Given the description of an element on the screen output the (x, y) to click on. 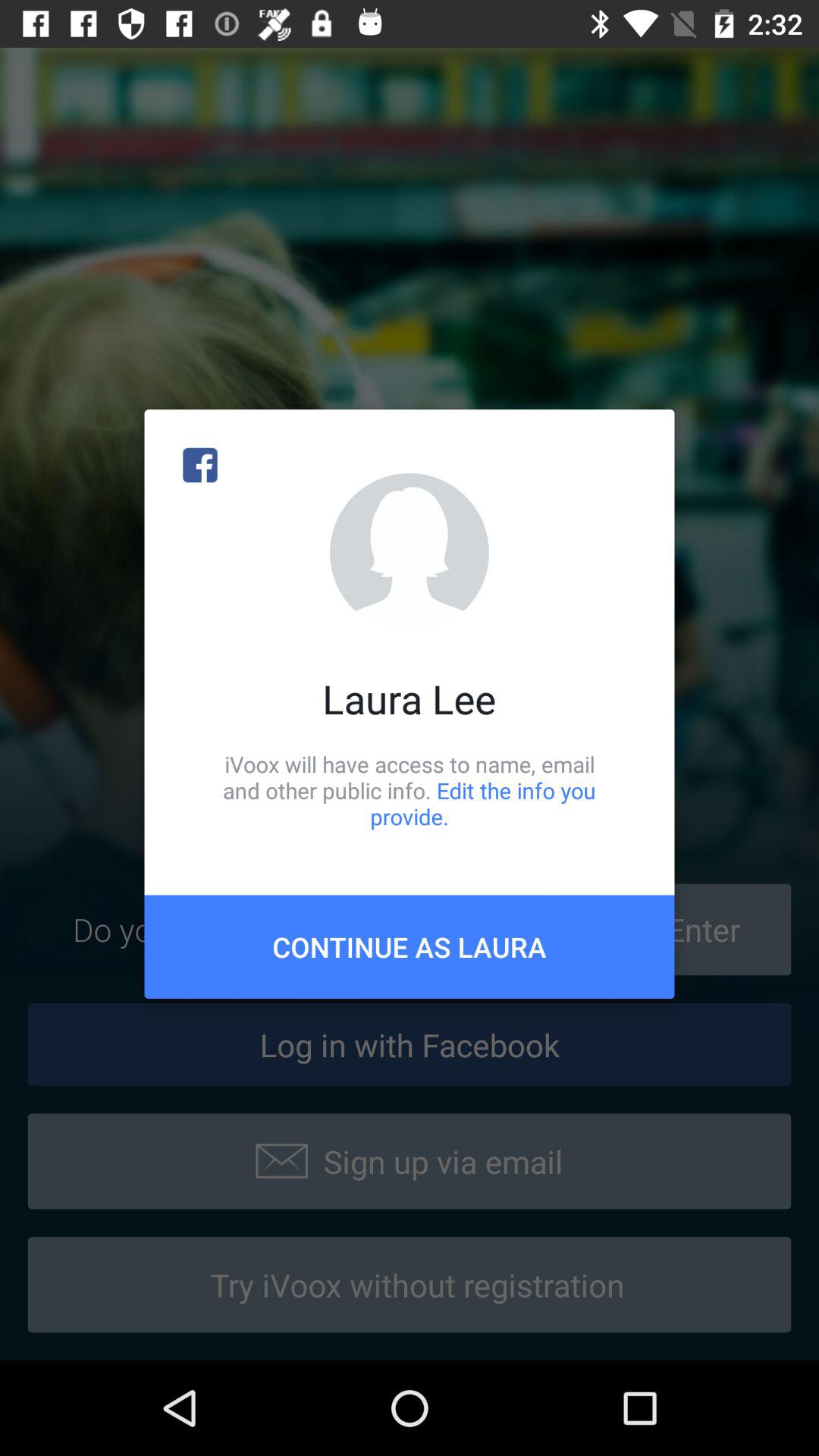
turn off icon above continue as laura (409, 790)
